Given the description of an element on the screen output the (x, y) to click on. 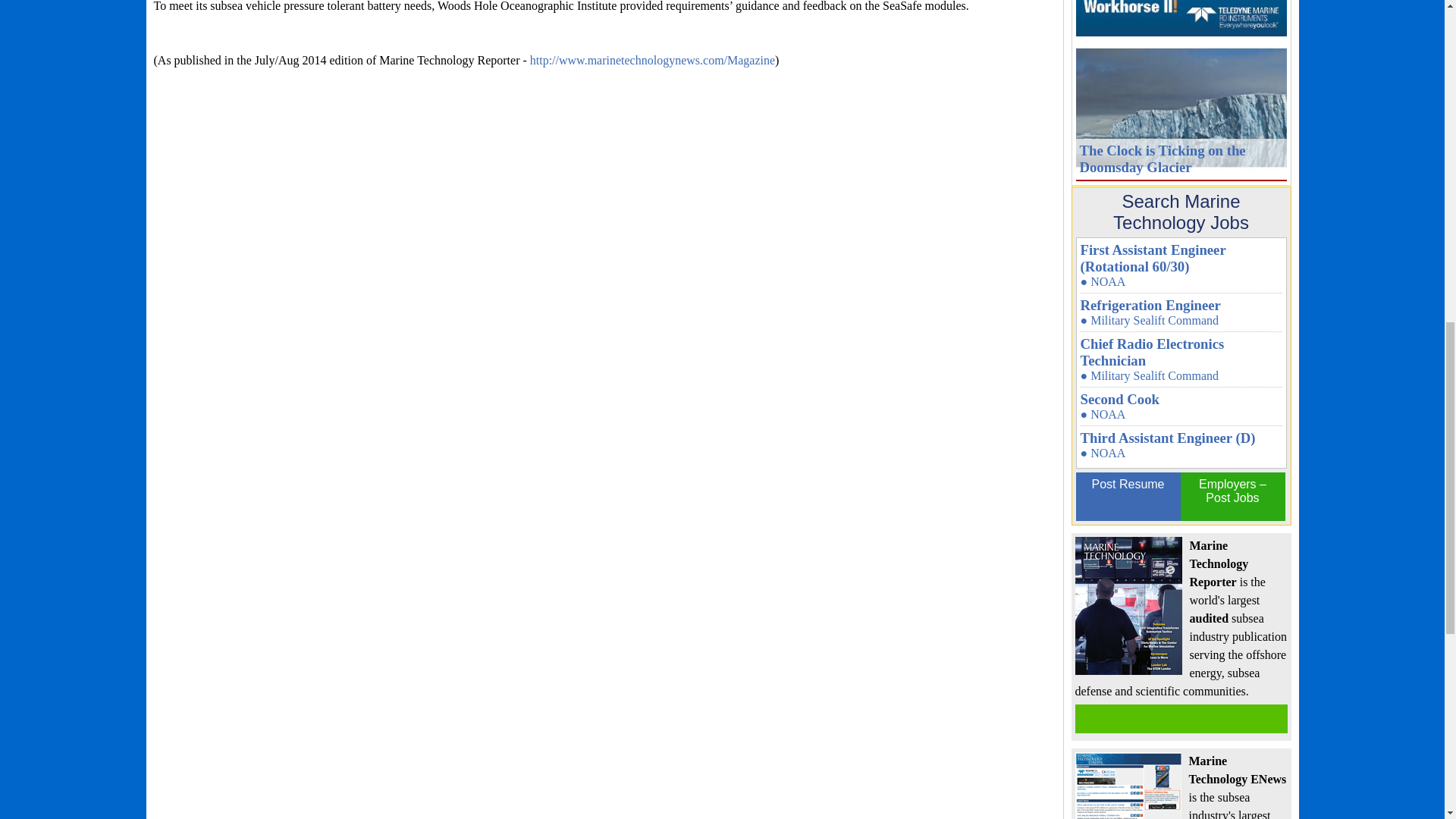
Marine Technology Reporter magazine subscription (1181, 718)
Subscribe (1181, 718)
Post Resume (1127, 496)
The Clock is Ticking on the Doomsday Glacier (1180, 108)
Search Marine Technology Jobs (1180, 211)
